Given the description of an element on the screen output the (x, y) to click on. 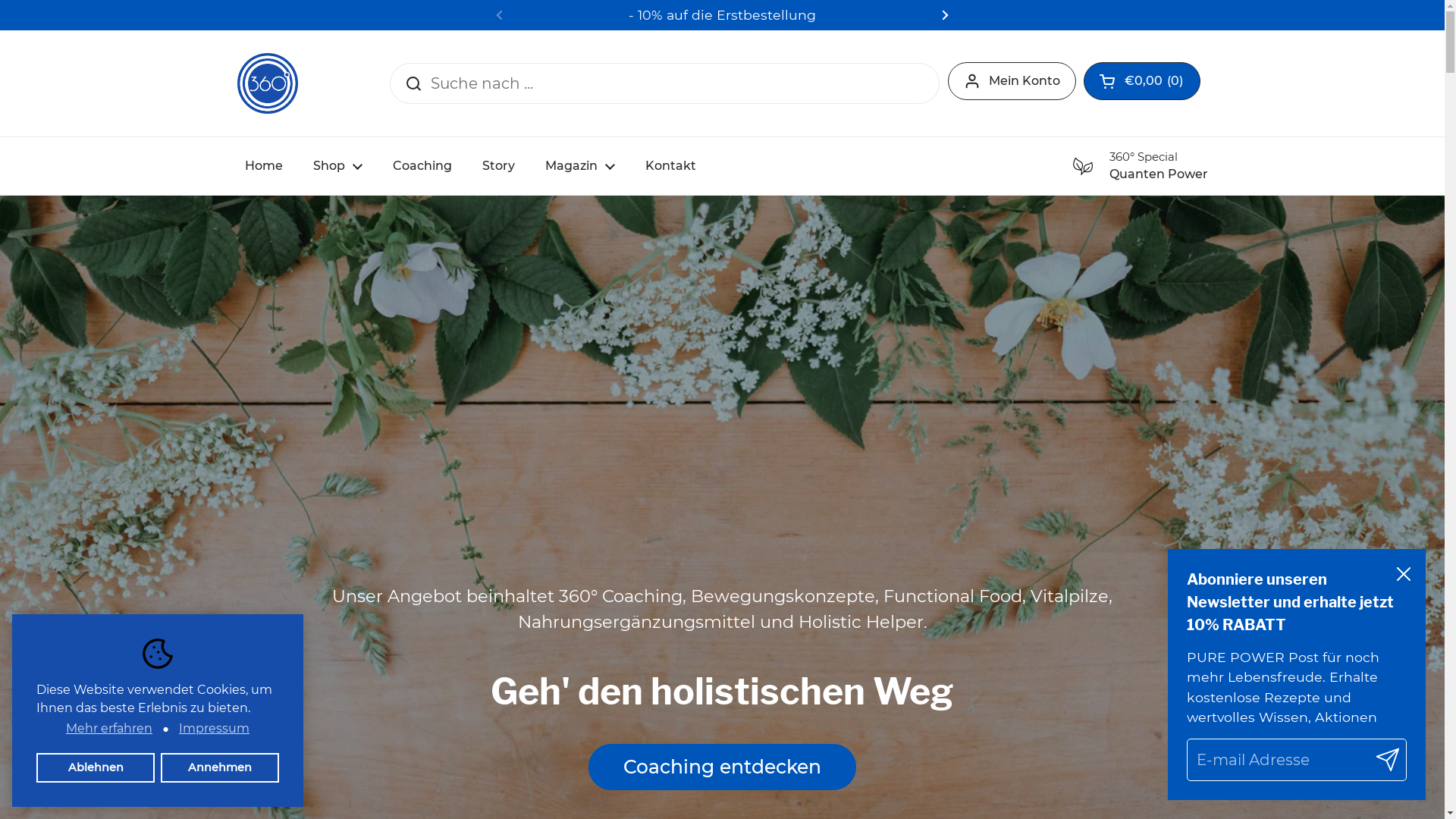
Ablehnen Element type: text (95, 767)
Coaching entdecken Element type: text (722, 766)
Impressum Element type: text (213, 728)
Annehmen Element type: text (219, 767)
Shop Element type: text (336, 165)
Abonnieren Element type: text (1387, 759)
Magazin Element type: text (579, 165)
Zum Inhalt springen Element type: text (0, 0)
Home Element type: text (263, 165)
Story Element type: text (498, 165)
Coaching Element type: text (422, 165)
Kontakt Element type: text (669, 165)
Mein Konto Element type: text (1011, 81)
Mehr erfahren Element type: text (108, 728)
